Given the description of an element on the screen output the (x, y) to click on. 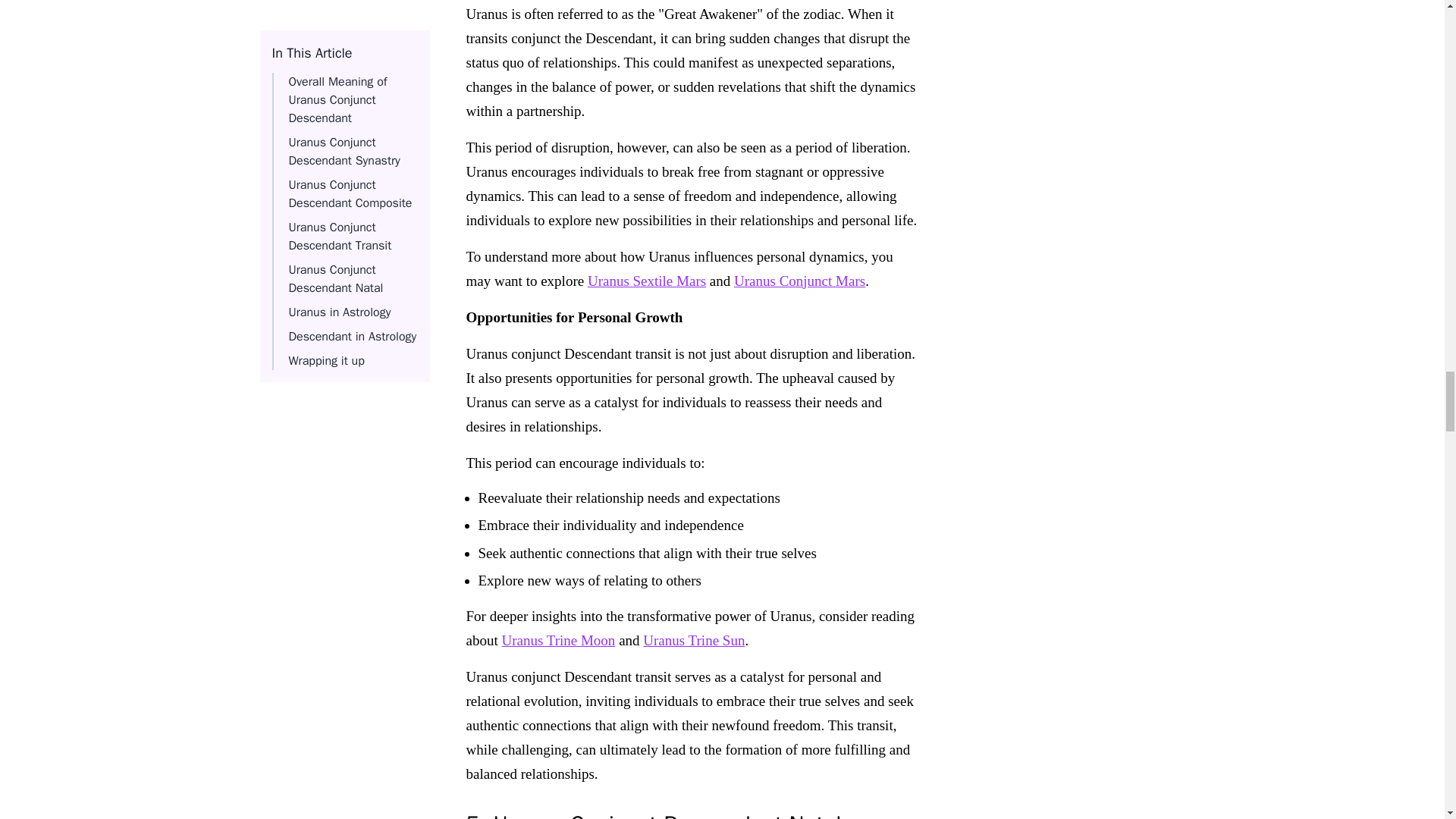
Uranus Trine Moon (557, 640)
Uranus Trine Sun (693, 640)
Uranus Sextile Mars (647, 280)
Uranus Conjunct Mars (798, 280)
